Given the description of an element on the screen output the (x, y) to click on. 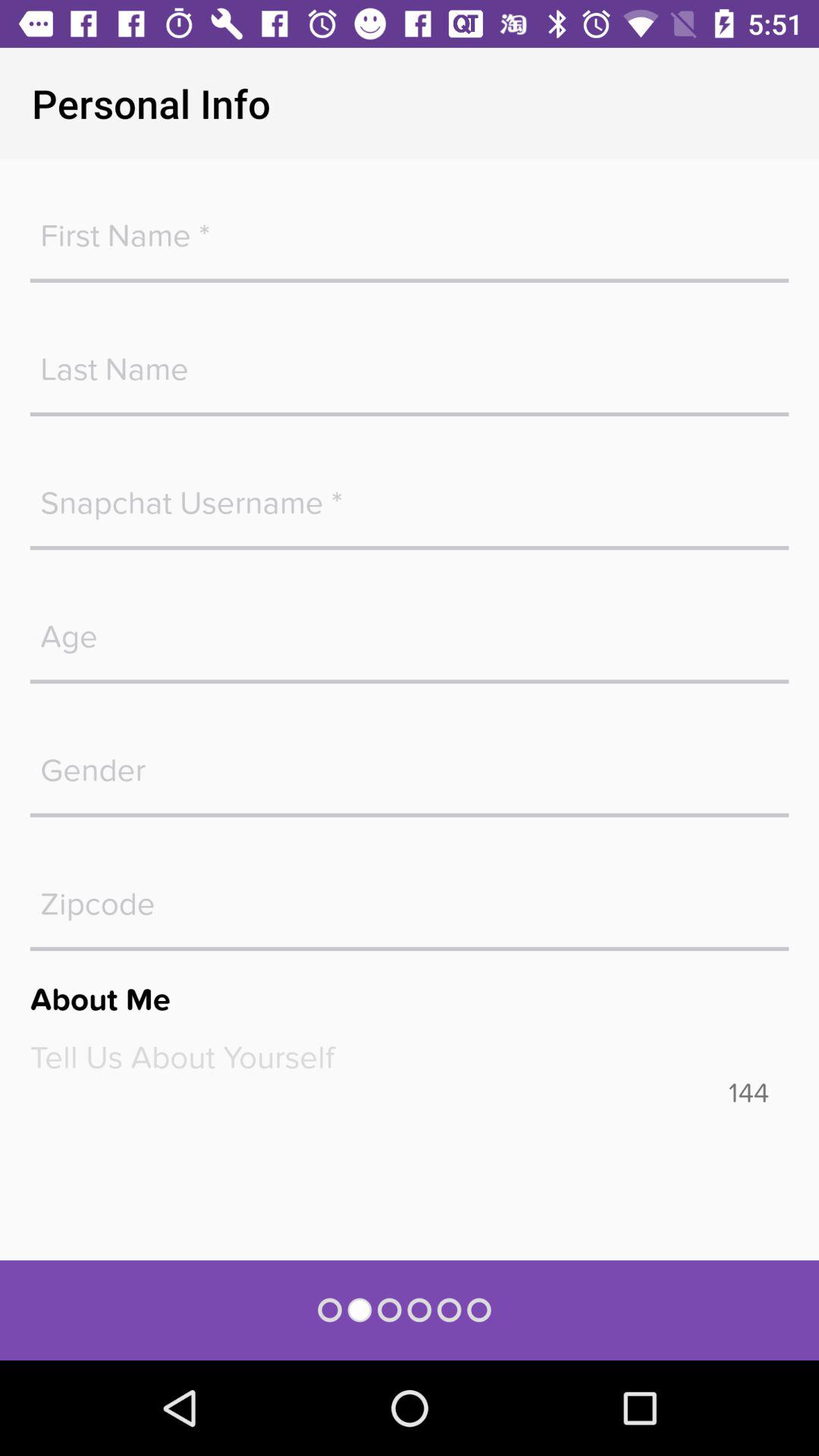
select icon above the 144 (409, 1057)
